Given the description of an element on the screen output the (x, y) to click on. 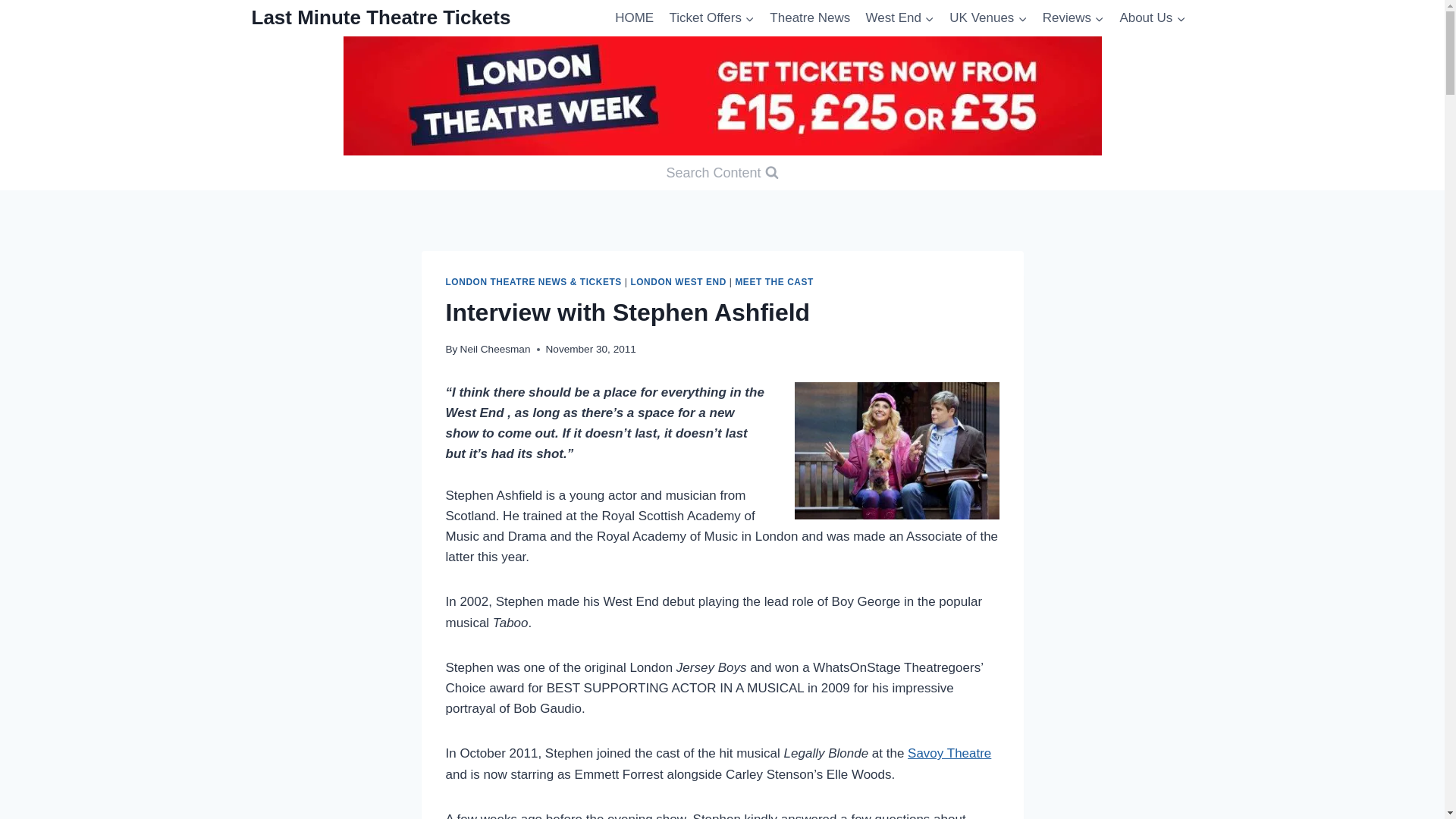
West End Theatres (899, 18)
London Theatre Reviews (1073, 18)
Stephen Ashfield and Carley Stenson (896, 450)
Ticket Offers (711, 18)
Savoy Theatre London (949, 753)
HOME (634, 18)
Theatre News (809, 18)
Reviews (1073, 18)
Last Minute Theatre Tickets (381, 17)
Home (634, 18)
